Given the description of an element on the screen output the (x, y) to click on. 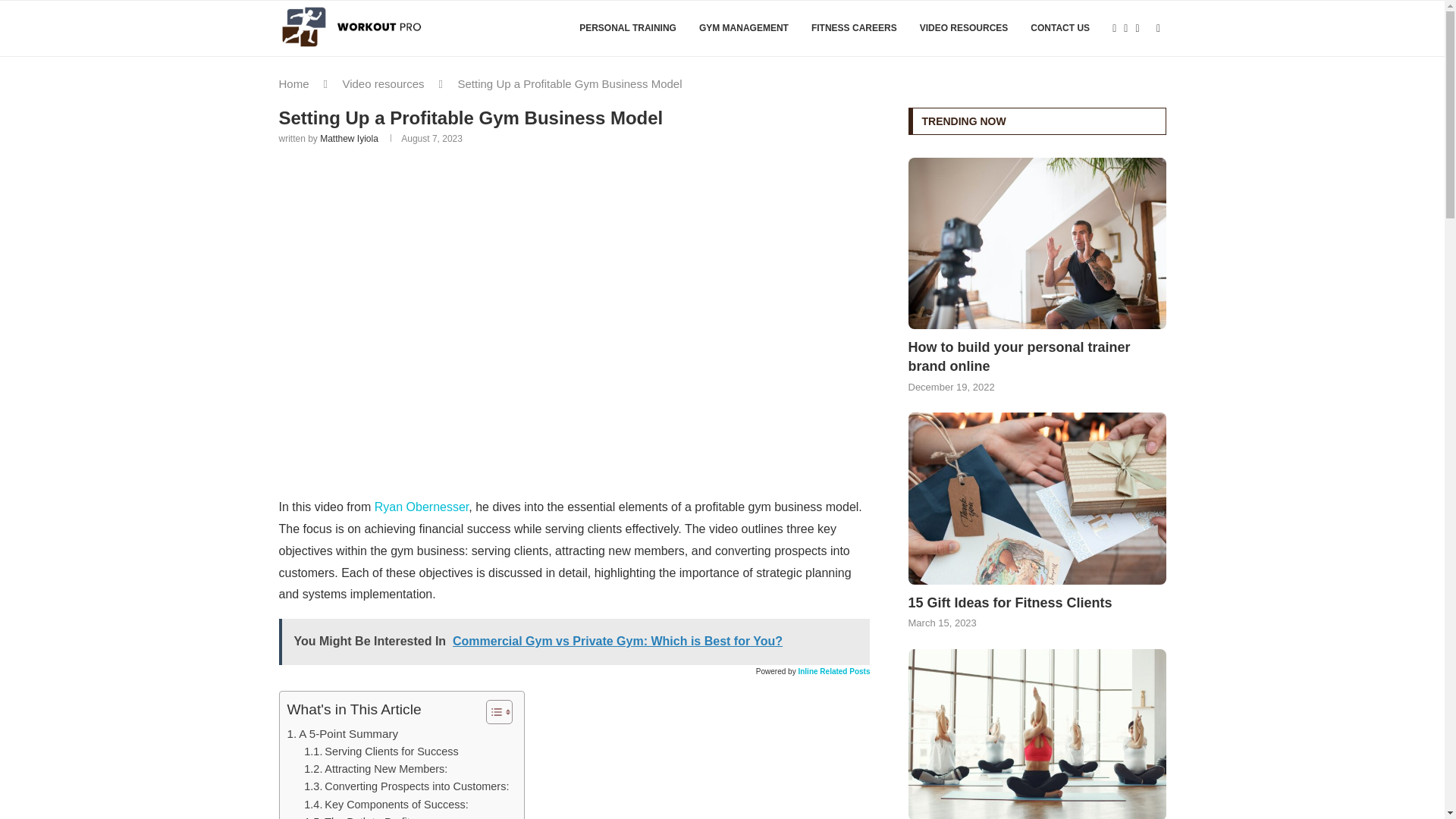
Ryan Obernesser (421, 506)
How to build your personal trainer brand online (1037, 244)
Serving Clients for Success (381, 751)
CONTACT US (1059, 28)
PERSONAL TRAINING (628, 28)
How to build your personal trainer brand online (1037, 356)
The Path to Profits: (361, 816)
15 Gift Ideas for Fitness Clients (1037, 498)
15 Gift Ideas for Fitness Clients (1037, 602)
Converting Prospects into Customers: (406, 786)
